Given the description of an element on the screen output the (x, y) to click on. 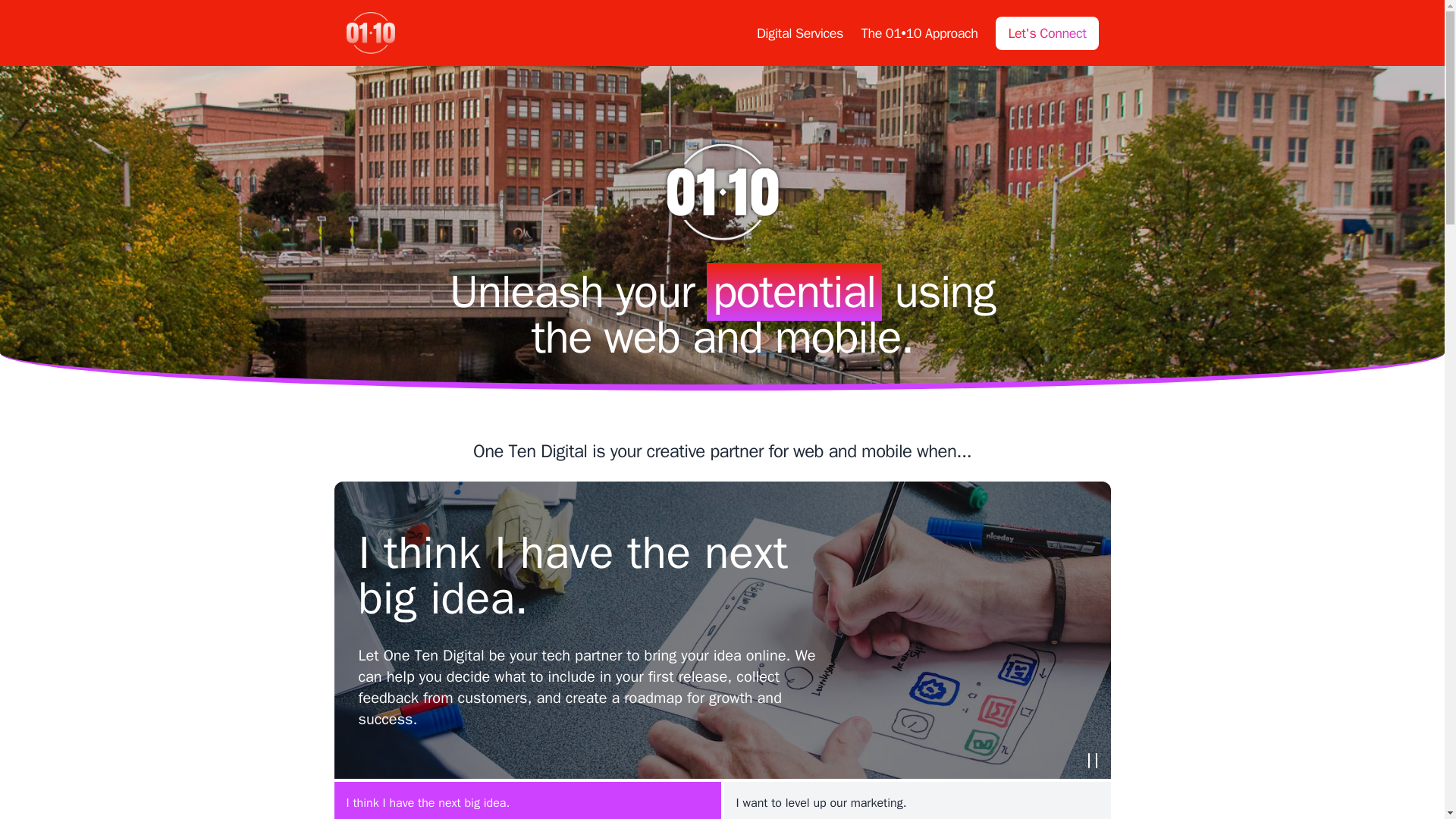
I want to level up our marketing. (916, 800)
Slideshow (1091, 760)
I think I have the next big idea. (526, 800)
Let's Connect (1046, 32)
Digital Services (800, 33)
